Given the description of an element on the screen output the (x, y) to click on. 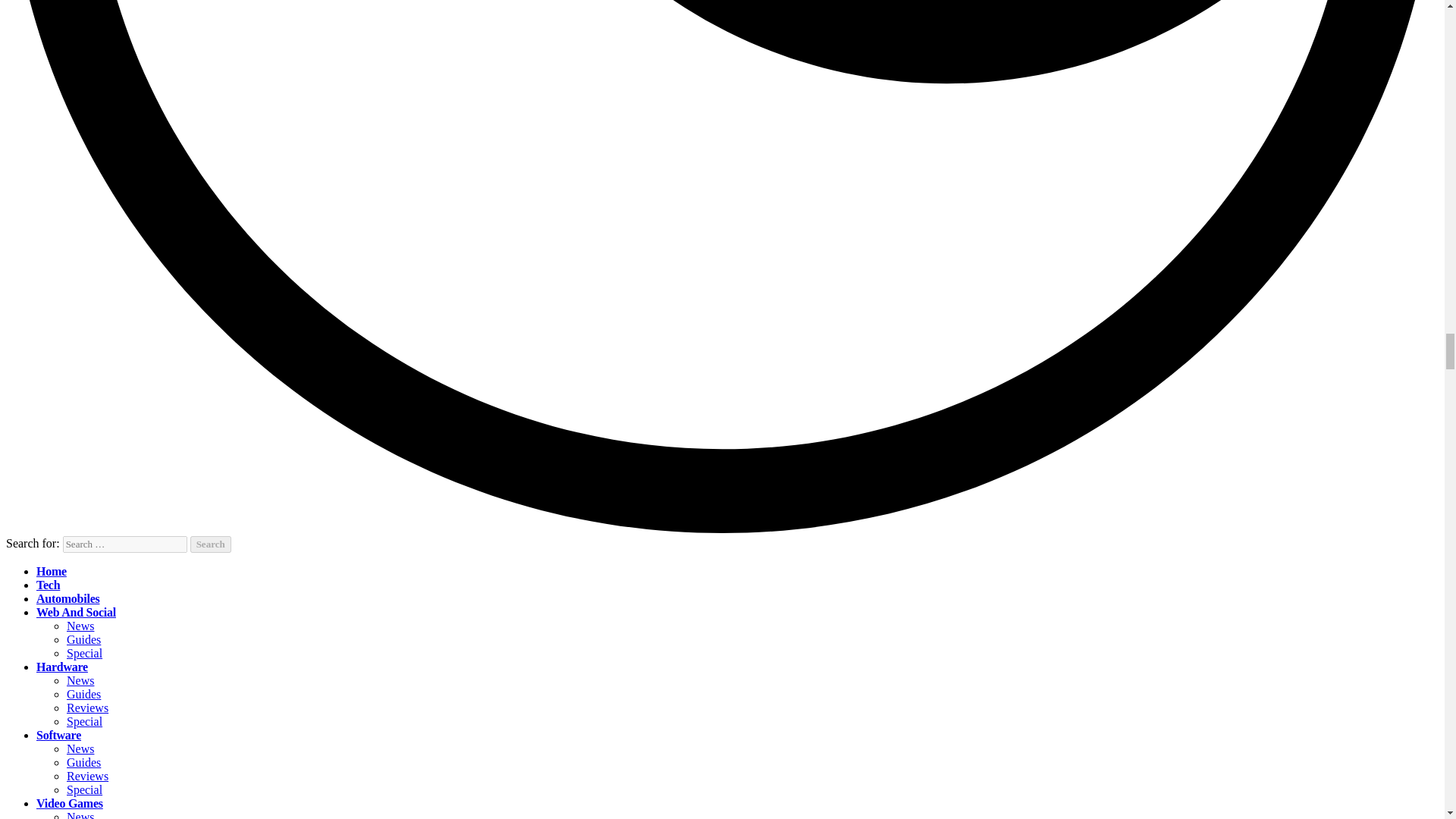
Search (210, 544)
Search (210, 544)
